Given the description of an element on the screen output the (x, y) to click on. 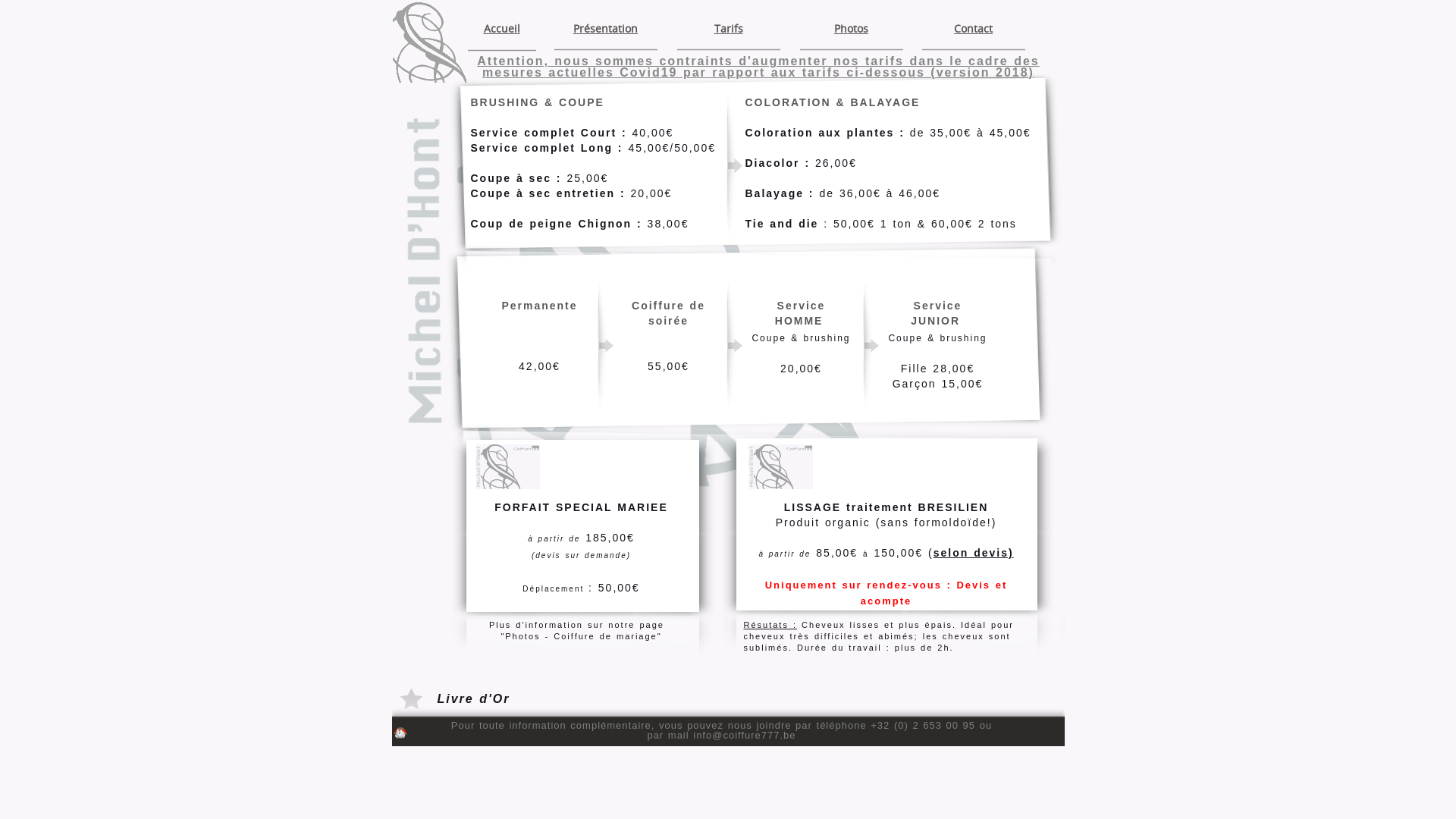
Accueil Element type: text (501, 26)
Contact Element type: text (973, 26)
Livre d'Or Element type: text (472, 698)
created with openElement Element type: hover (399, 732)
Photos Element type: text (850, 26)
Tarifs Element type: text (727, 26)
